Given the description of an element on the screen output the (x, y) to click on. 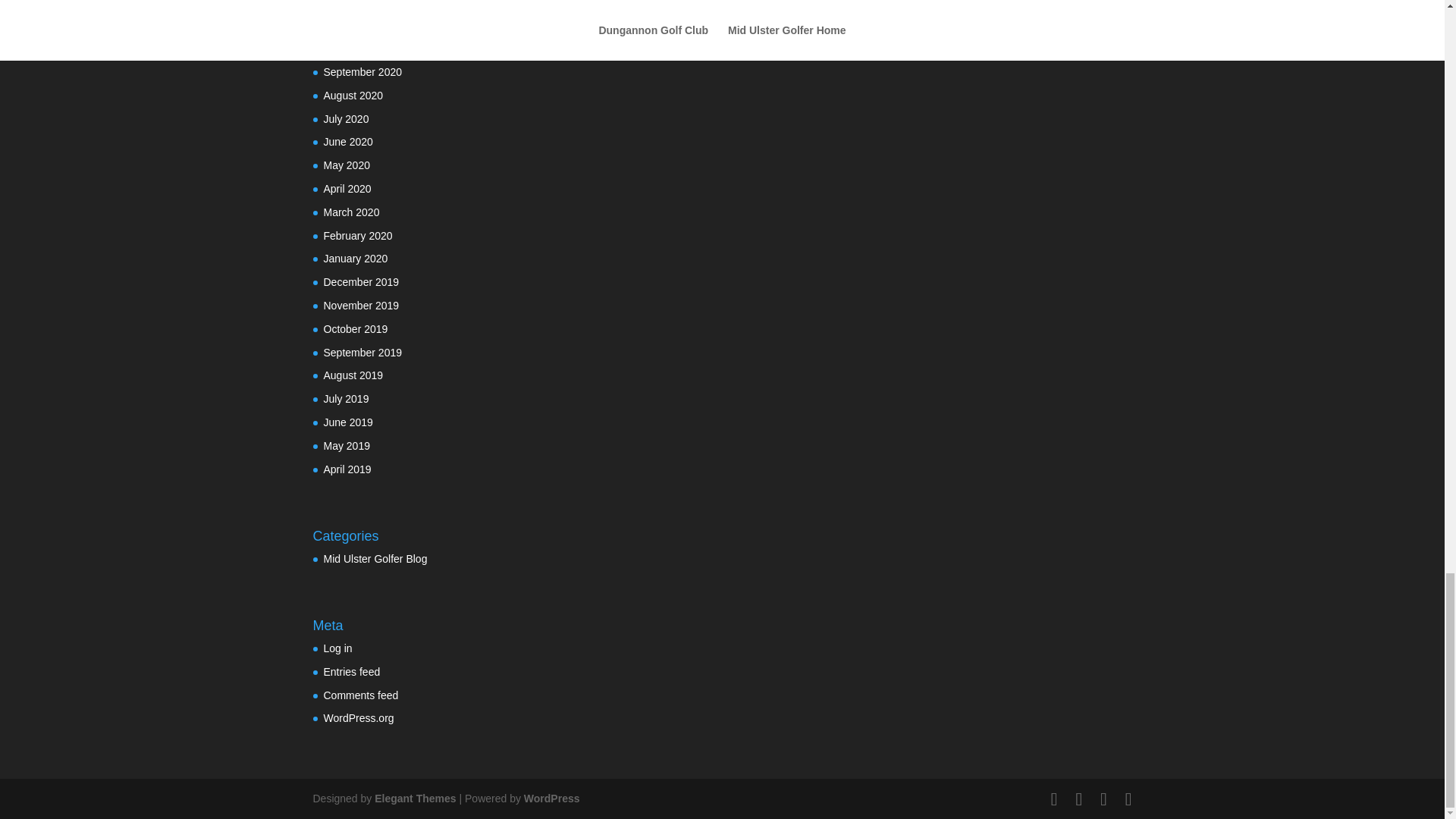
Premium WordPress Themes (414, 798)
December 2020 (360, 4)
